Given the description of an element on the screen output the (x, y) to click on. 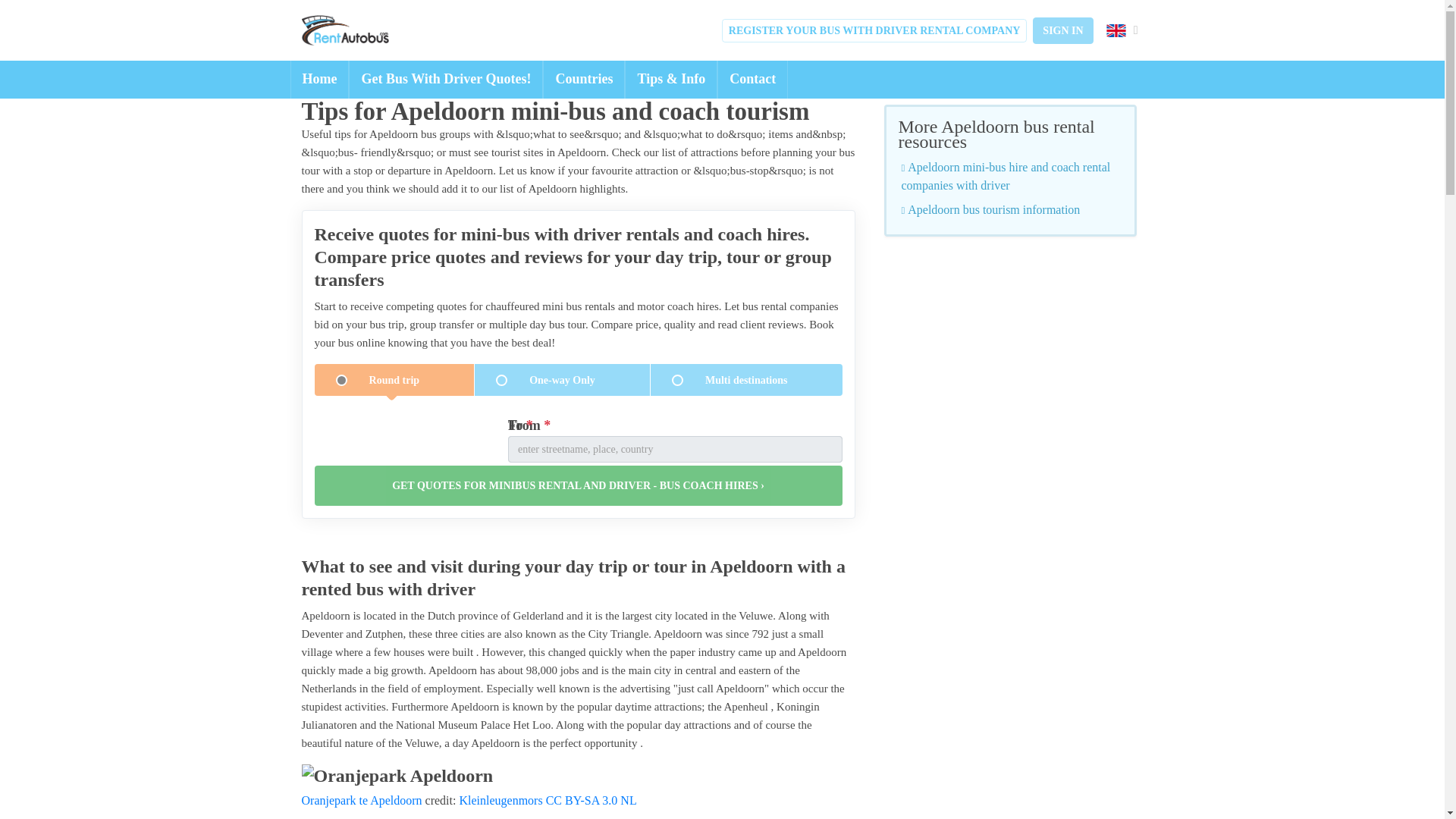
Contact (752, 79)
User:Kleinleugenmors (499, 799)
Home (319, 79)
Countries (583, 79)
REGISTER YOUR BUS WITH DRIVER RENTAL COMPANY (874, 29)
Get Bus With Driver Quotes! (446, 79)
SIGN IN (1062, 29)
